Given the description of an element on the screen output the (x, y) to click on. 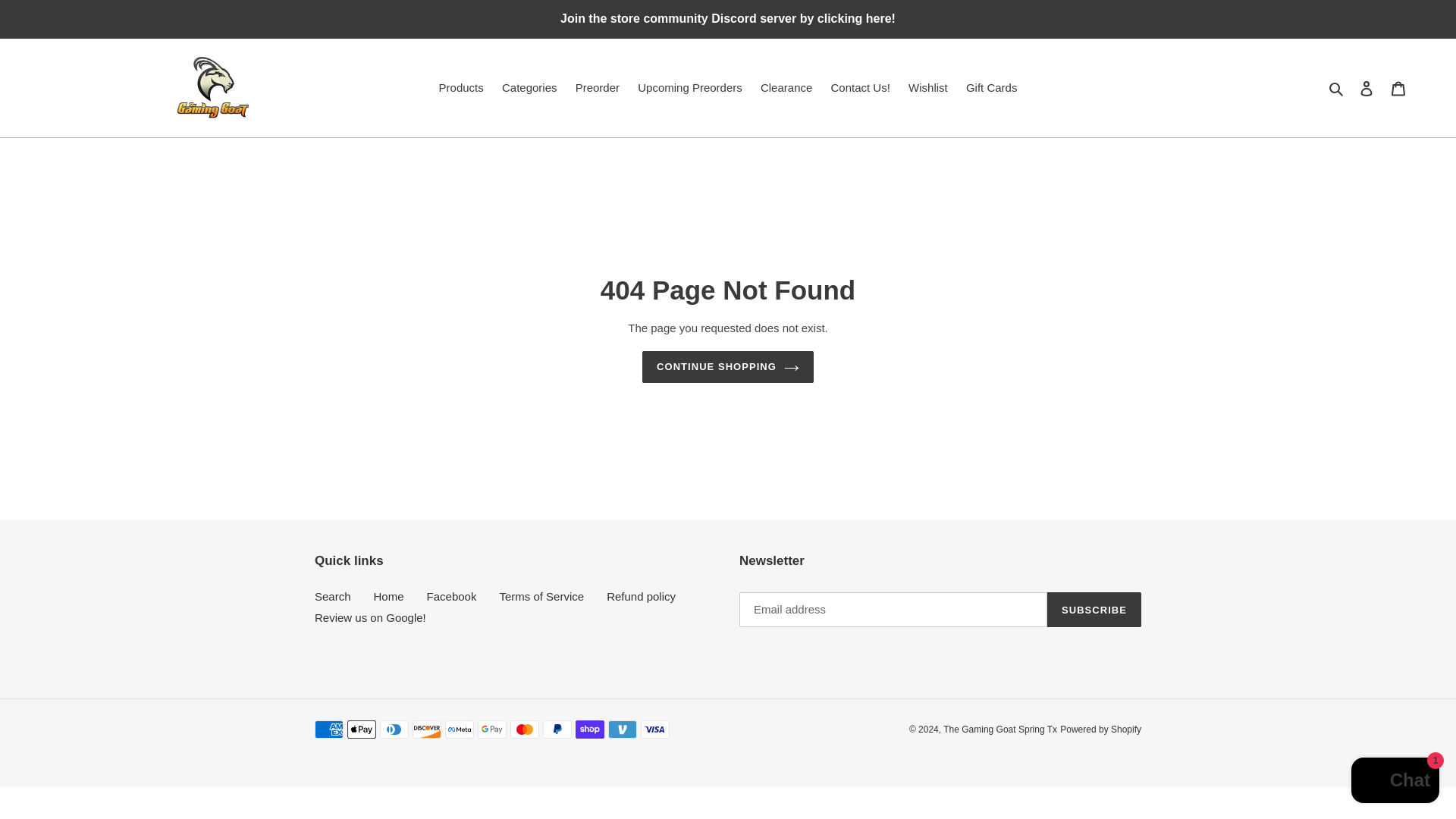
Cart (1397, 88)
Facebook (451, 595)
Powered by Shopify (1100, 728)
Contact Us! (861, 87)
Gift Cards (991, 87)
Refund policy (641, 595)
Upcoming Preorders (689, 87)
Clearance (785, 87)
Review us on Google! (370, 617)
Wishlist (928, 87)
Log in (1366, 88)
Categories (529, 87)
Home (389, 595)
CONTINUE SHOPPING (727, 367)
SUBSCRIBE (1093, 609)
